Given the description of an element on the screen output the (x, y) to click on. 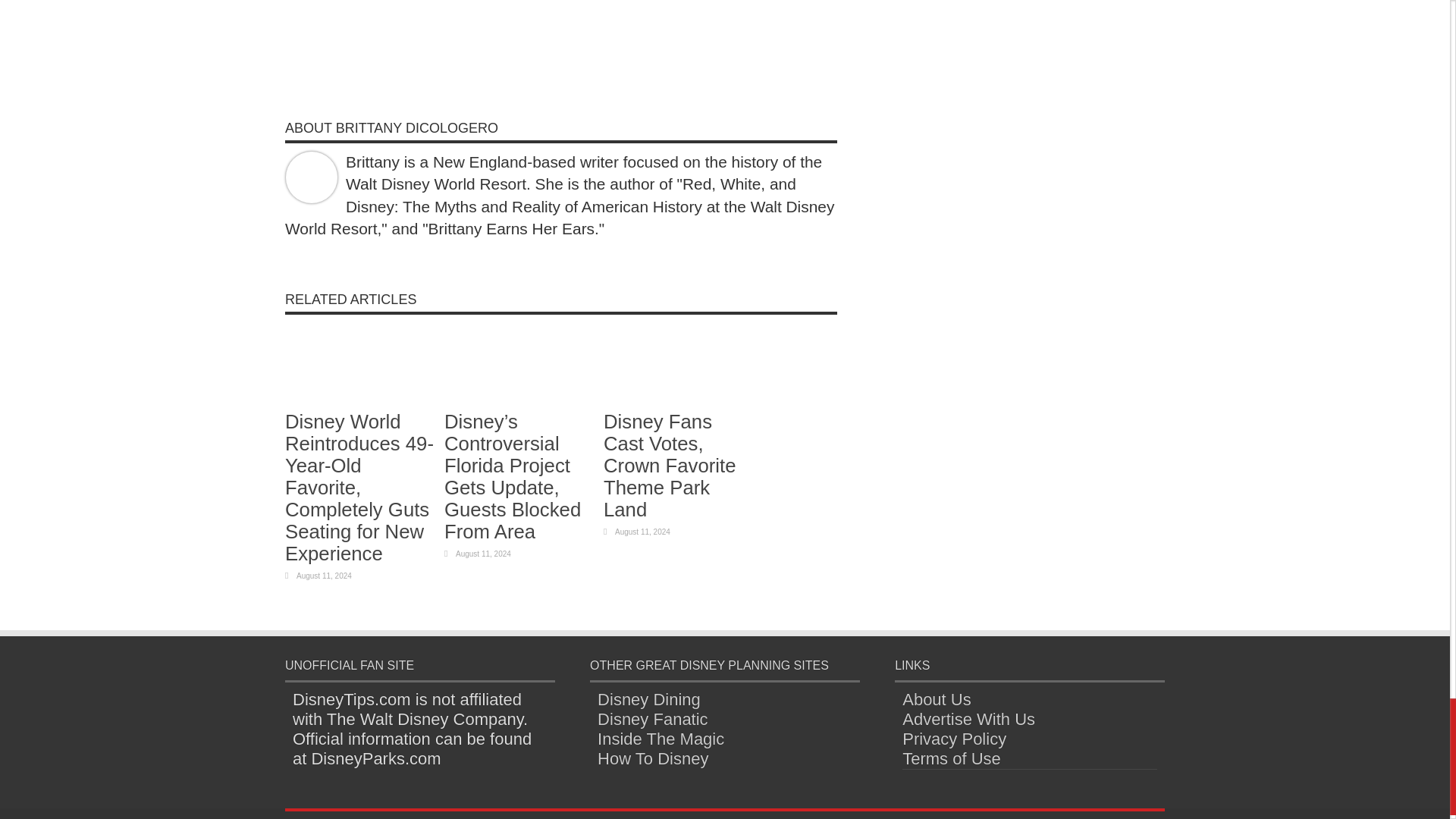
Disney Fanatic (651, 719)
Disney Fans Cast Votes, Crown Favorite Theme Park Land (669, 465)
Disney Dining (648, 699)
